Given the description of an element on the screen output the (x, y) to click on. 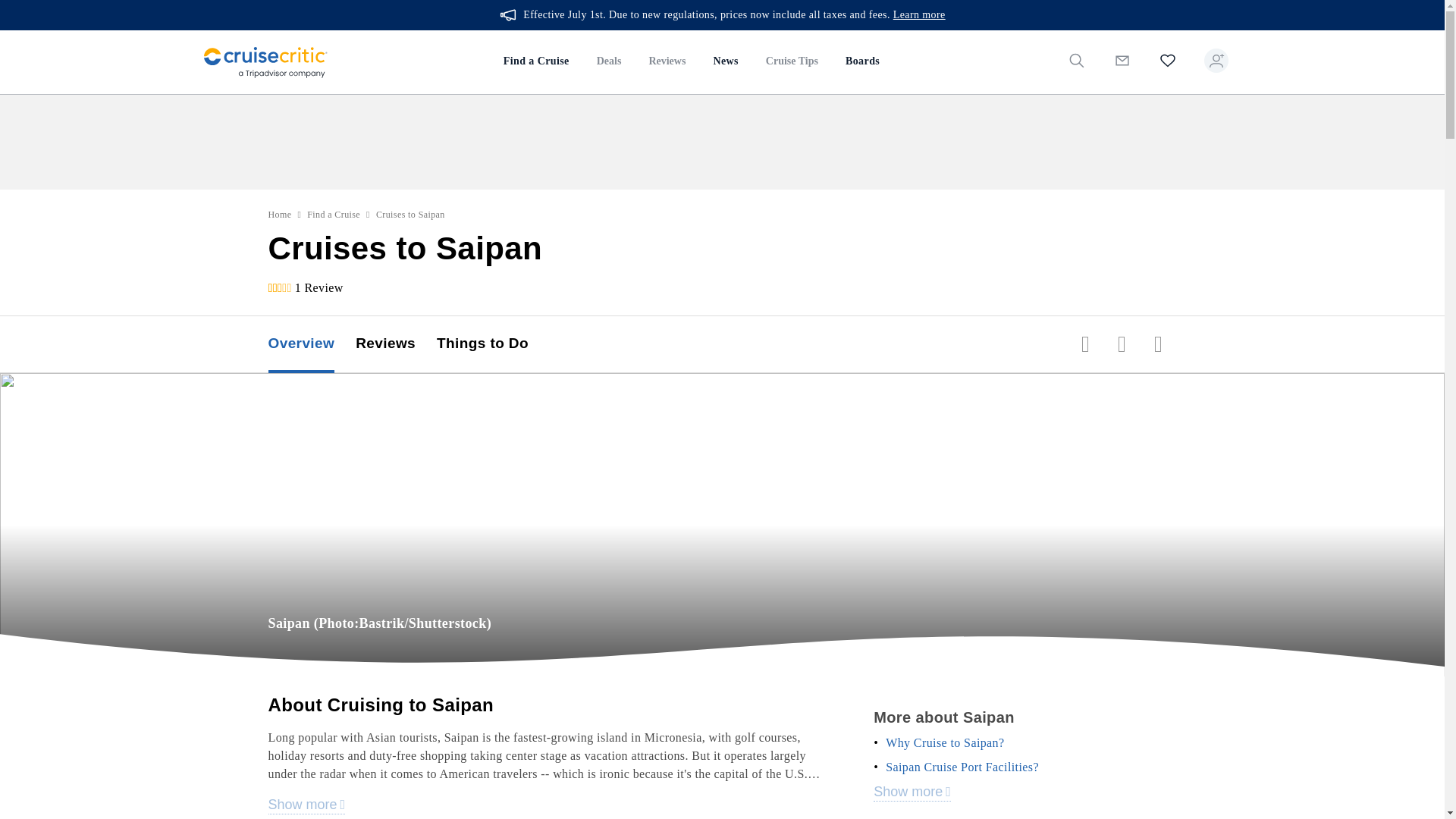
1 Review (319, 287)
Saipan Cruise Port Facilities? (962, 767)
Find a Cruise (333, 214)
News (724, 62)
Why Cruise to Saipan? (944, 742)
Cruise Tips (791, 62)
Reviews (395, 344)
Find a Cruise (536, 62)
Reviews (666, 62)
Show more (911, 792)
Home (279, 214)
Overview (311, 344)
Show more (306, 805)
Things to Do (493, 344)
Cruises to Saipan (410, 214)
